Given the description of an element on the screen output the (x, y) to click on. 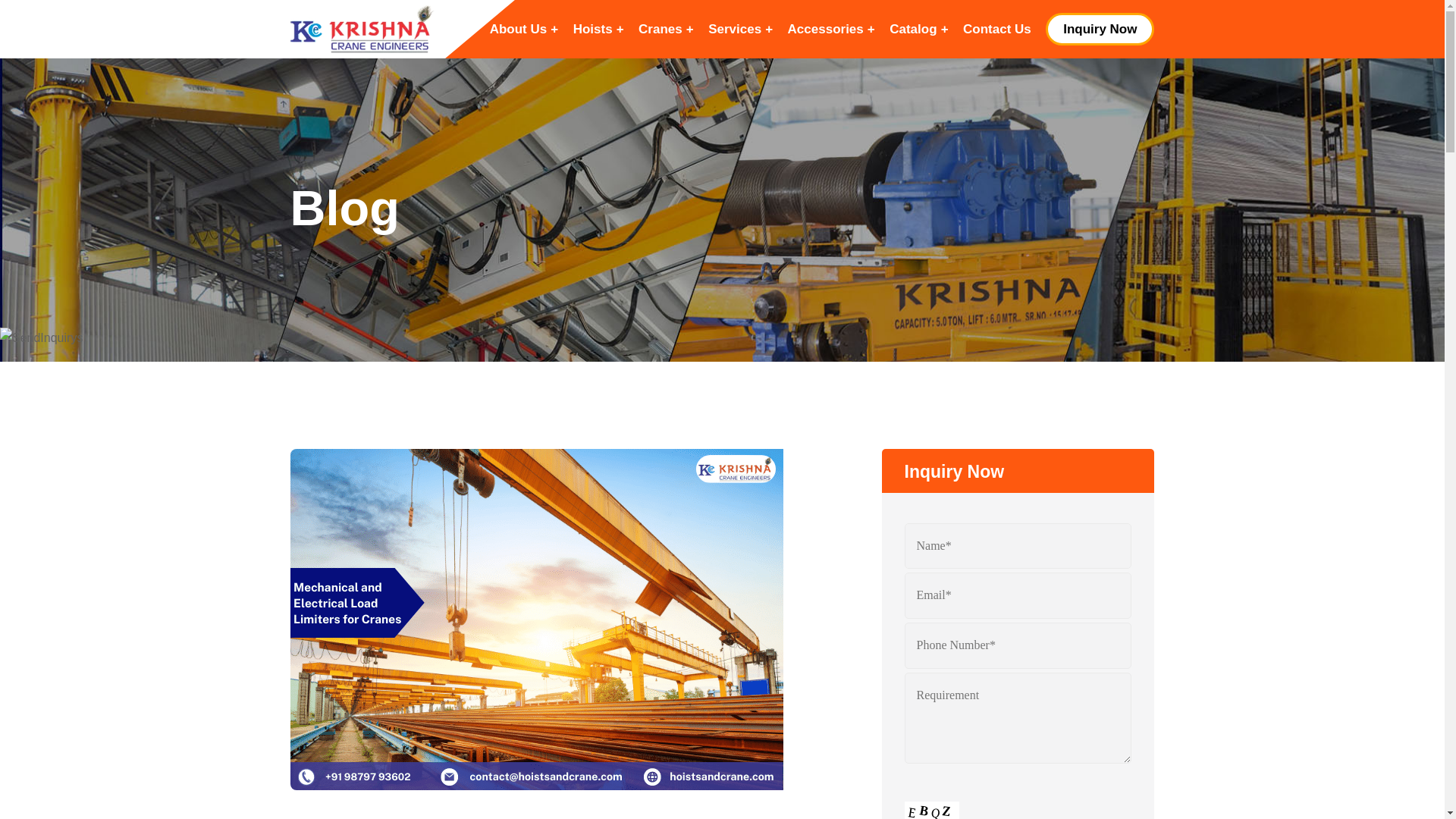
About Us (519, 29)
Contact Us (997, 29)
Accessories (825, 29)
Services (735, 29)
Catalog (912, 29)
Wire Rope Hoist (518, 816)
SendInquirys (41, 338)
Cranes (660, 29)
Inquiry Now (1099, 29)
August 27, 2018 (405, 816)
